Given the description of an element on the screen output the (x, y) to click on. 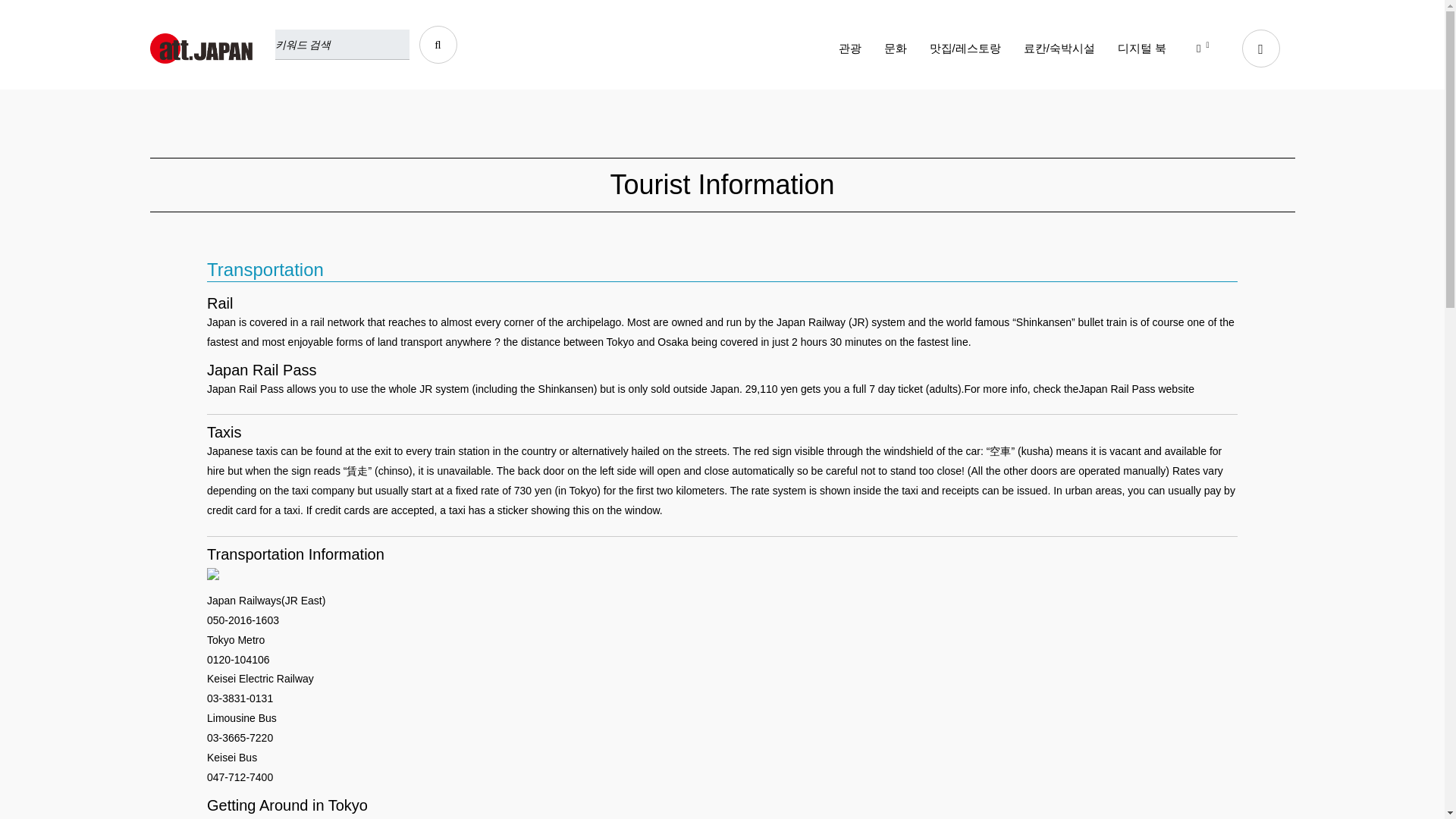
Japan Rail Pass website (1135, 389)
